Given the description of an element on the screen output the (x, y) to click on. 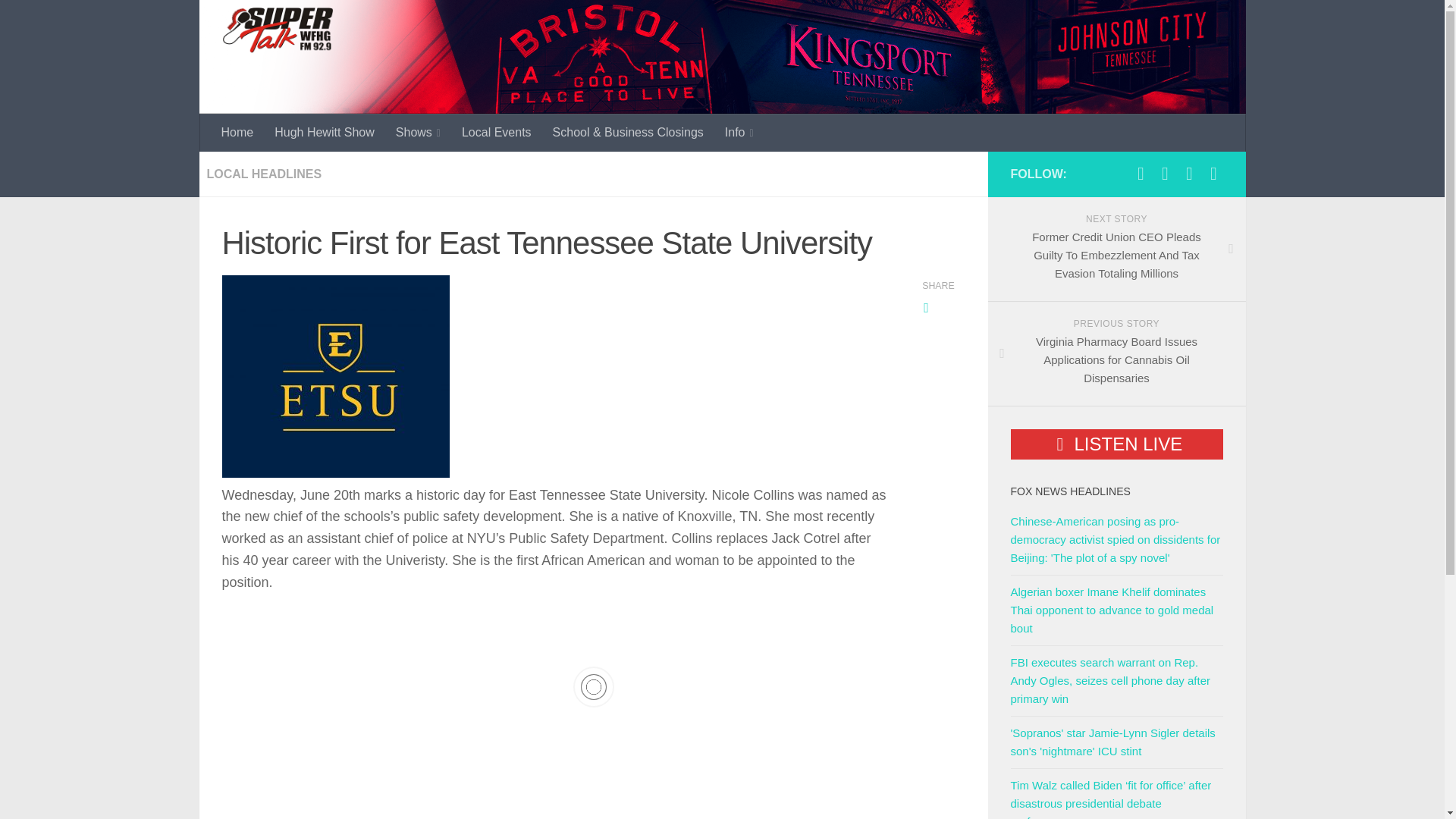
Info (739, 132)
Home (237, 132)
Shows (418, 132)
Follow us on Twitter (1164, 173)
Rss Feed (1213, 173)
Follow us on Facebook (1140, 173)
Local Events (496, 132)
Hugh Hewitt Show (324, 132)
Contact Us (1188, 173)
